Given the description of an element on the screen output the (x, y) to click on. 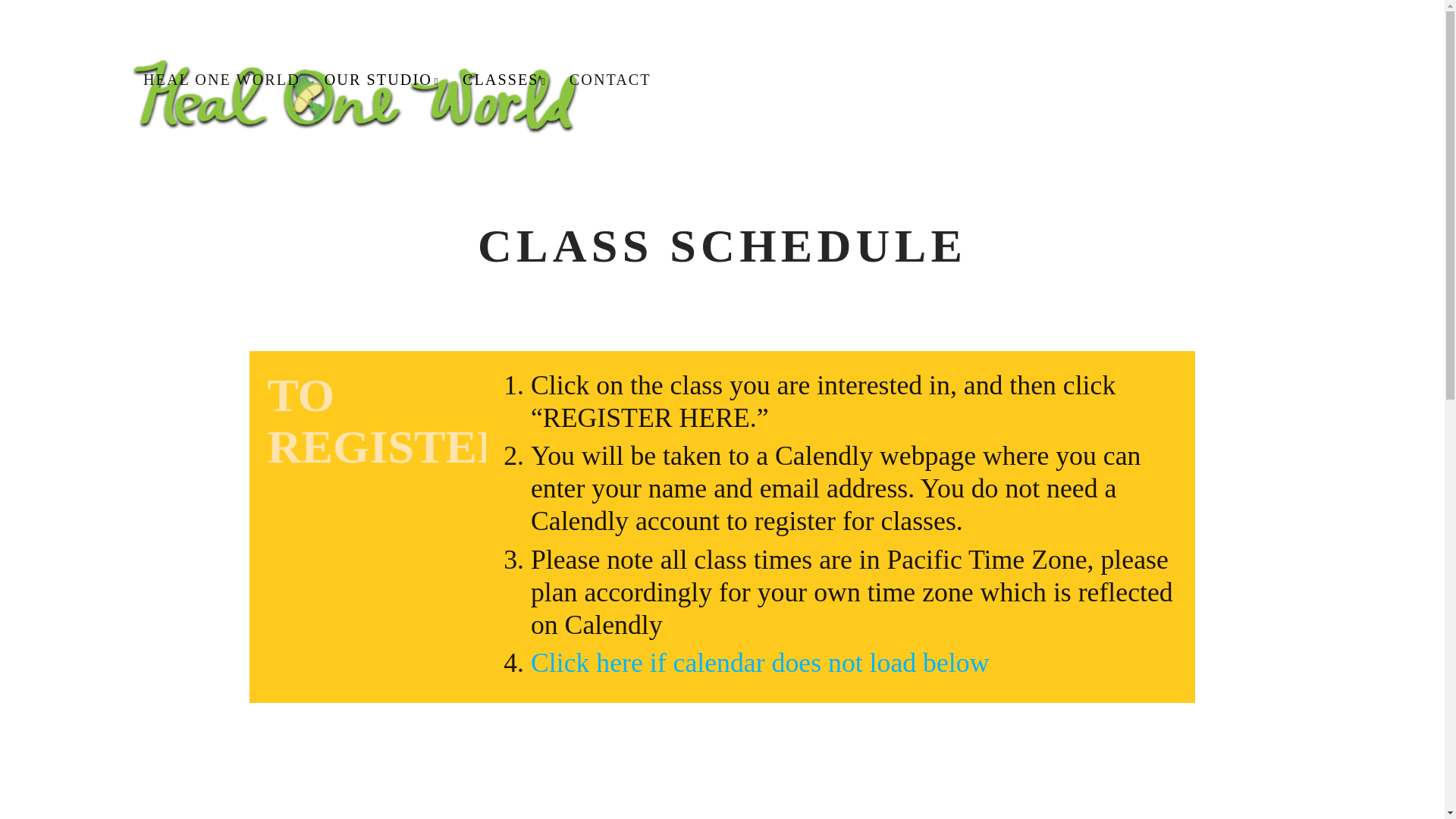
CLASSES (503, 78)
HEAL ONE WORLD (222, 74)
Click here if calendar does not load below (760, 663)
CONTACT (610, 74)
OUR STUDIO (381, 78)
